Given the description of an element on the screen output the (x, y) to click on. 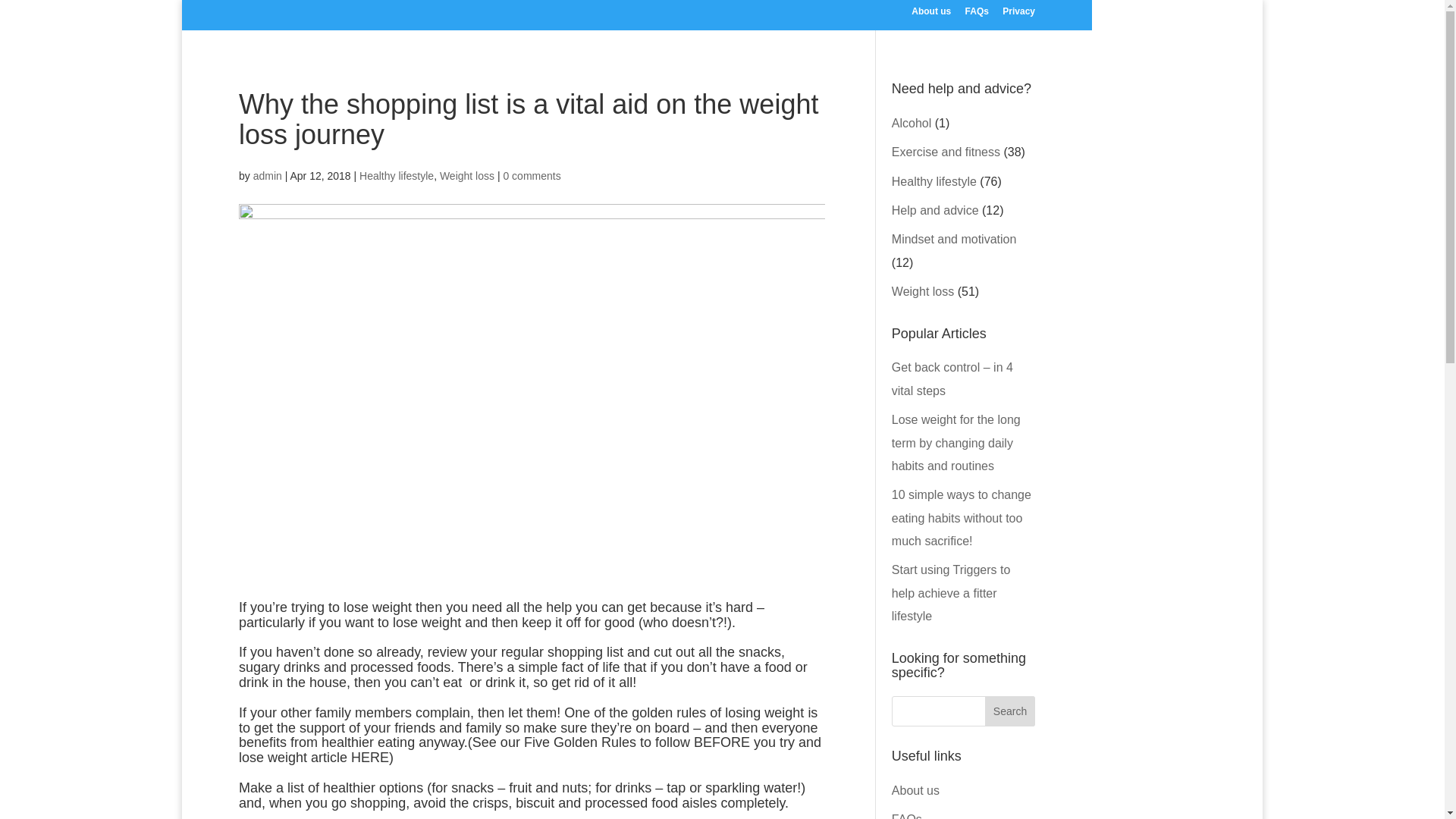
Healthy lifestyle (396, 175)
Weight loss (922, 291)
FAQs (976, 14)
Search (1010, 711)
Start using Triggers to help achieve a fitter lifestyle (950, 592)
admin (267, 175)
Help and advice (934, 210)
Search (1010, 711)
About us (915, 789)
0 comments (531, 175)
